Given the description of an element on the screen output the (x, y) to click on. 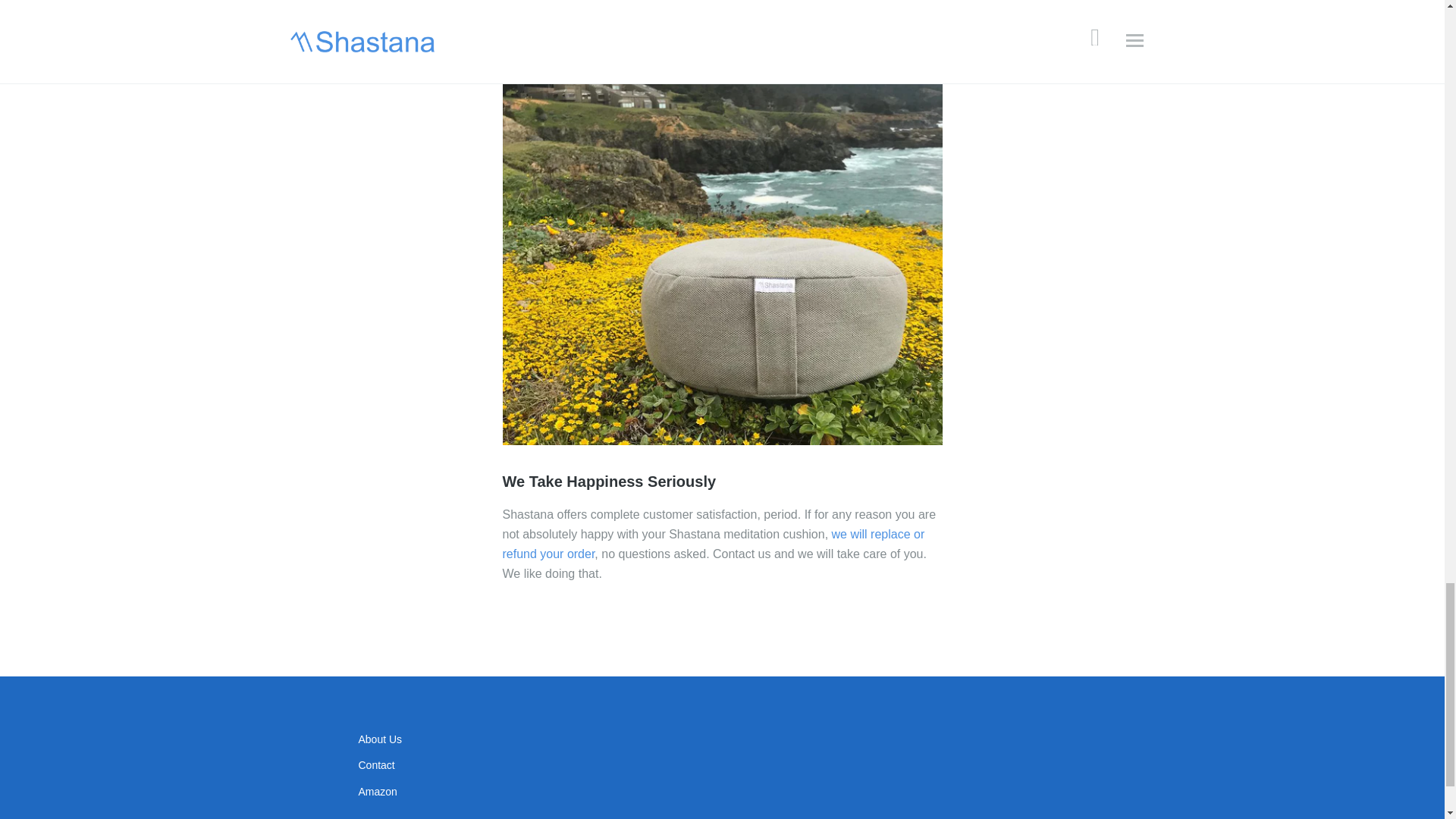
Amazon (377, 791)
Contact (376, 765)
we will replace or refund your order (713, 543)
About Us (379, 739)
